Given the description of an element on the screen output the (x, y) to click on. 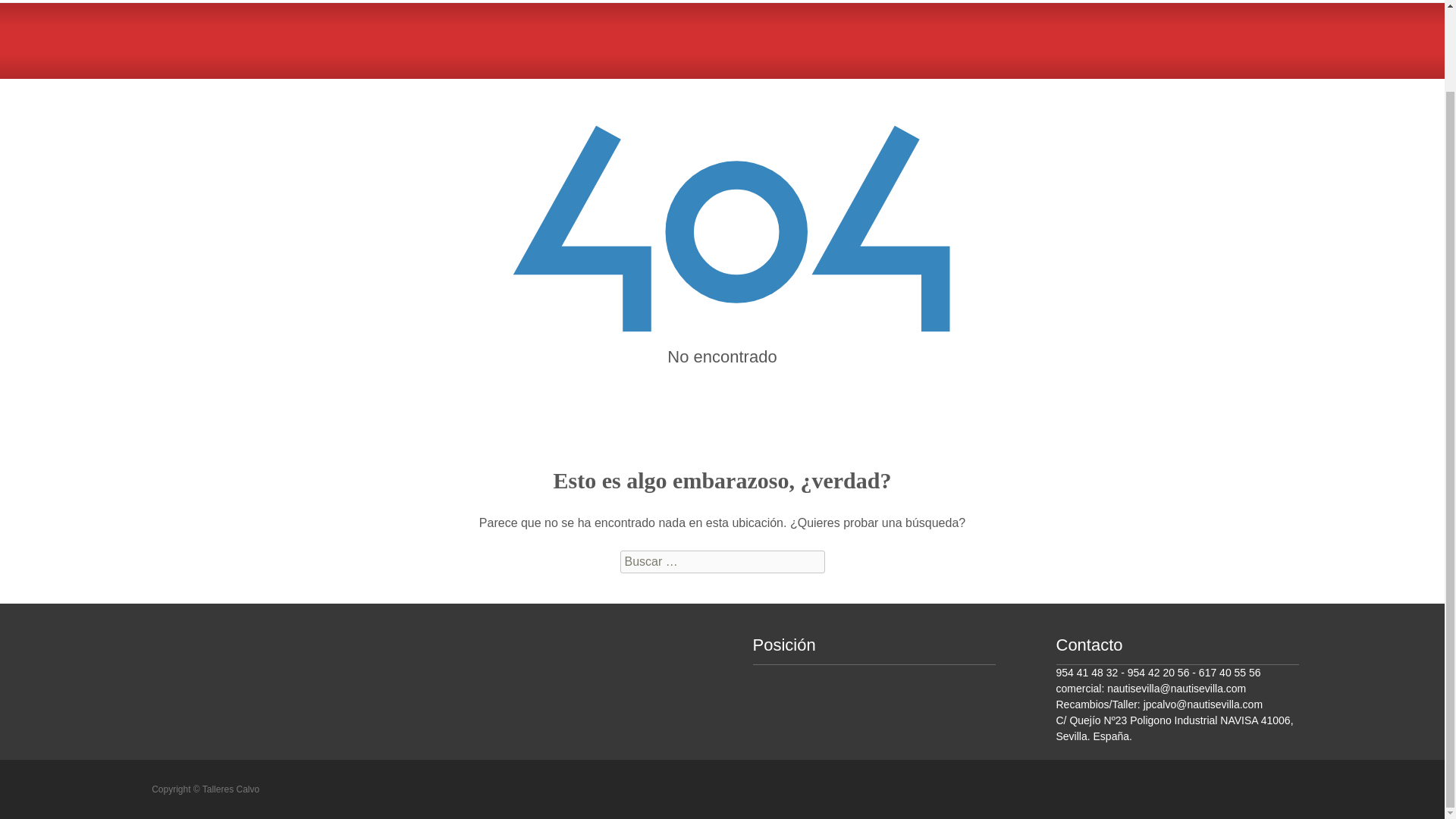
Distribuidores oficiales (1118, 1)
Contacto (1226, 1)
Quienes somos (750, 1)
Accesorios Nauticos (870, 1)
